Given the description of an element on the screen output the (x, y) to click on. 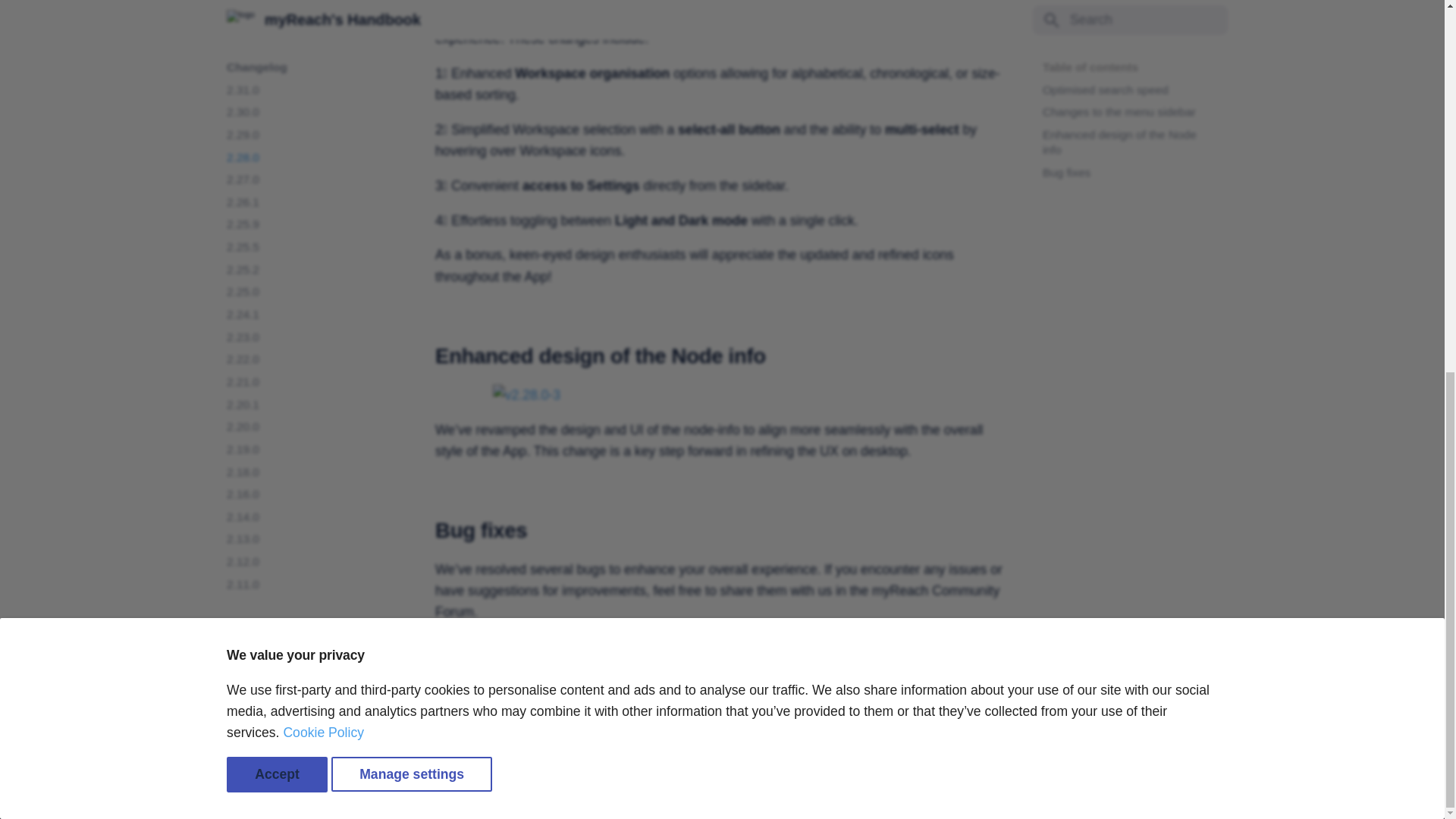
twitter.com (1117, 791)
youtube.com (1147, 791)
www.tiktok.com (1207, 791)
facebook.com (1087, 791)
linkedin.com (1056, 791)
instagram.com (1177, 791)
